Given the description of an element on the screen output the (x, y) to click on. 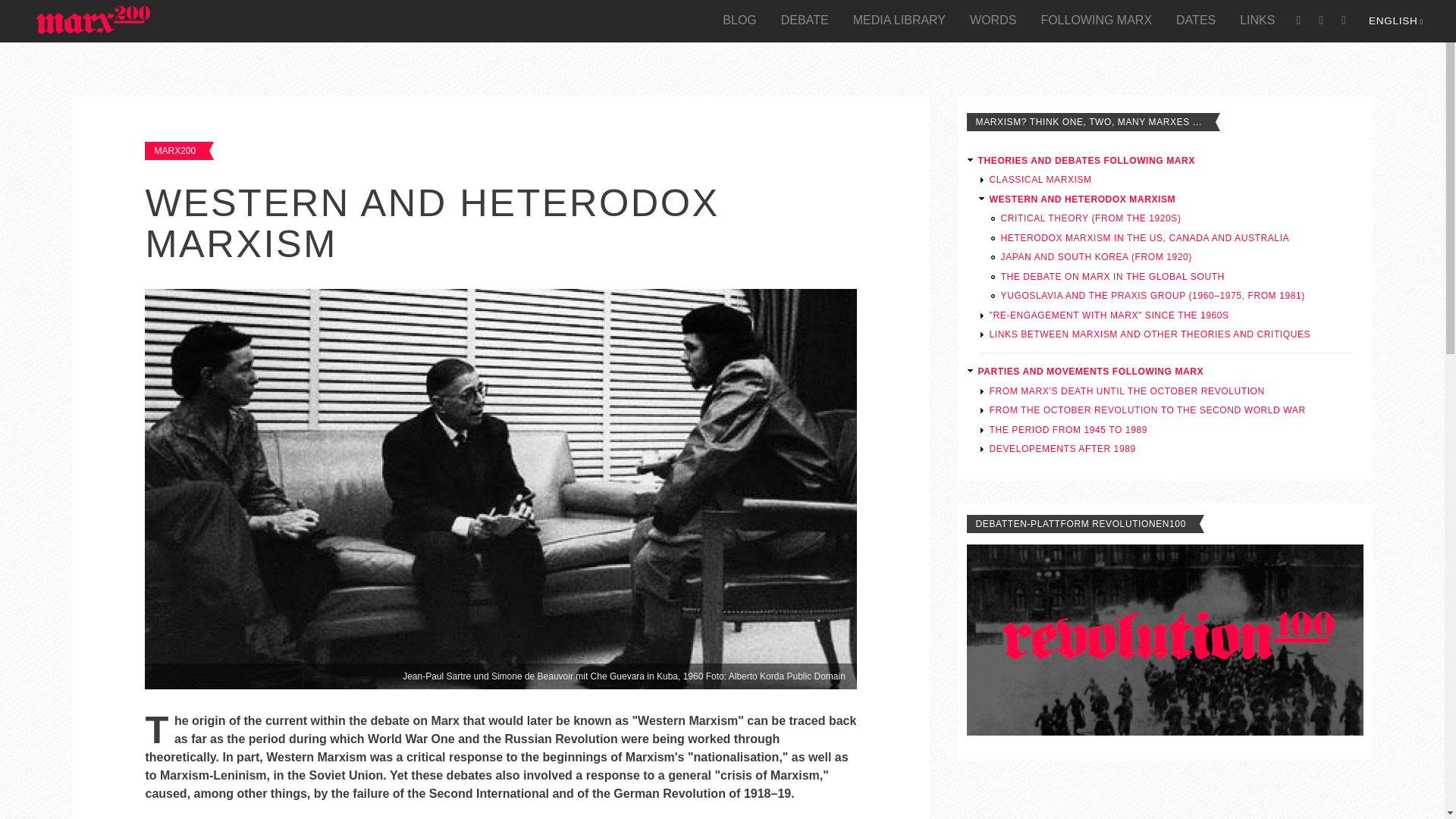
FOLLOWING MARX (1095, 20)
MARX200 (174, 150)
LINKS (1257, 20)
Home (92, 21)
ENGLISH (1395, 20)
DEBATE (804, 20)
BLOG (739, 20)
DATES (1195, 20)
MEDIA LIBRARY (899, 20)
Contact (1320, 20)
About marx200 (1297, 20)
WORDS (992, 20)
Western and Heterodox Marxism (1395, 20)
